Given the description of an element on the screen output the (x, y) to click on. 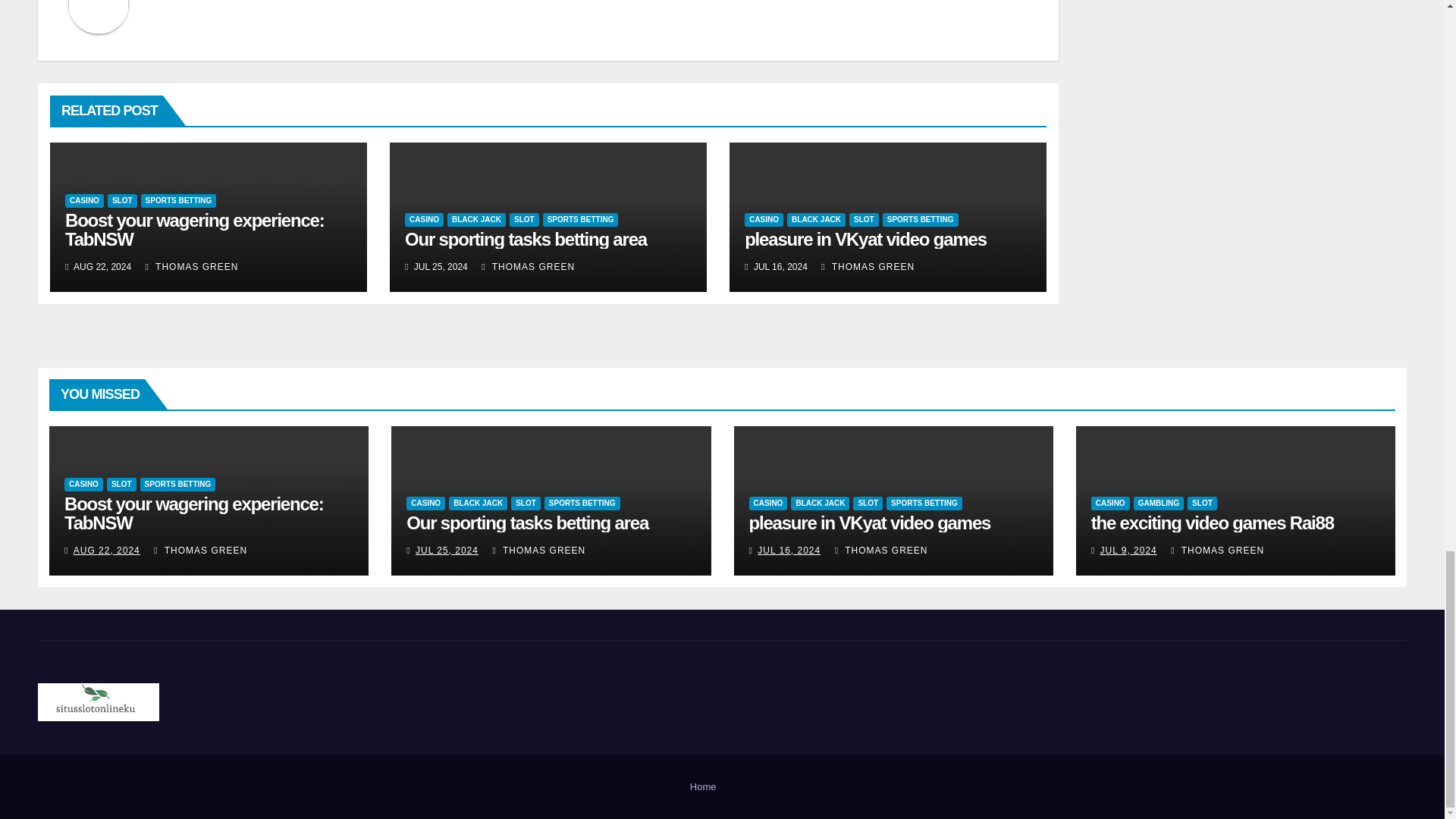
CASINO (84, 201)
Permalink to: the exciting video games Rai88 (1211, 522)
THOMAS GREEN (191, 266)
Permalink to: Our sporting tasks betting area (526, 522)
SPORTS BETTING (178, 201)
Permalink to: Our sporting tasks betting area (525, 239)
Boost your wagering experience: TabNSW (194, 228)
Home (703, 786)
Permalink to: Boost your wagering experience: TabNSW (194, 228)
Permalink to: pleasure in VKyat video games (865, 239)
